Given the description of an element on the screen output the (x, y) to click on. 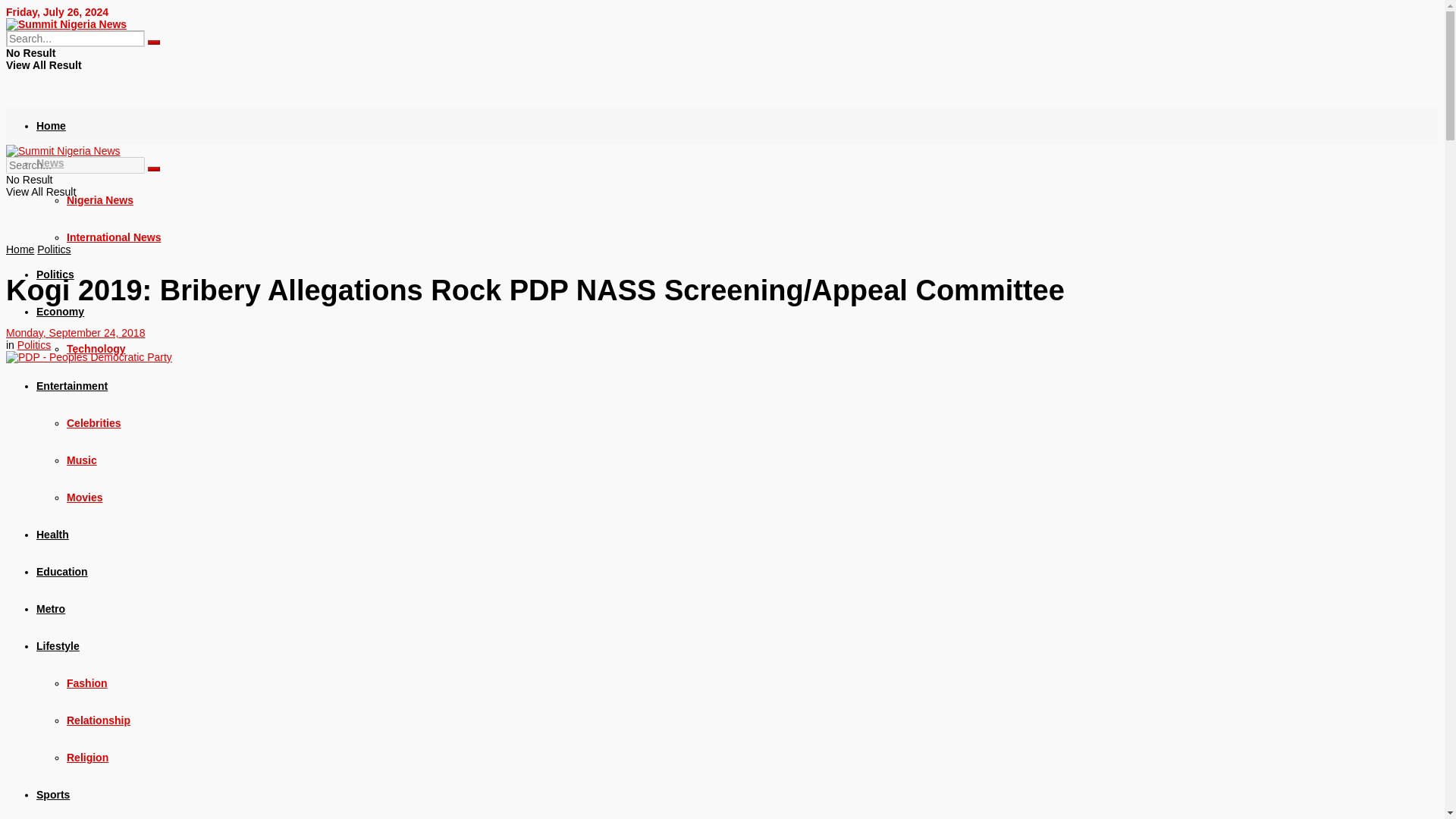
Sports (52, 794)
Music (81, 460)
Religion (86, 757)
Politics (33, 345)
Fashion (86, 683)
Relationship (98, 720)
Technology (95, 348)
Entertainment (71, 386)
Home (19, 249)
Health (52, 534)
News (50, 162)
Politics (53, 249)
Movies (83, 497)
Lifestyle (58, 645)
Celebrities (93, 422)
